Given the description of an element on the screen output the (x, y) to click on. 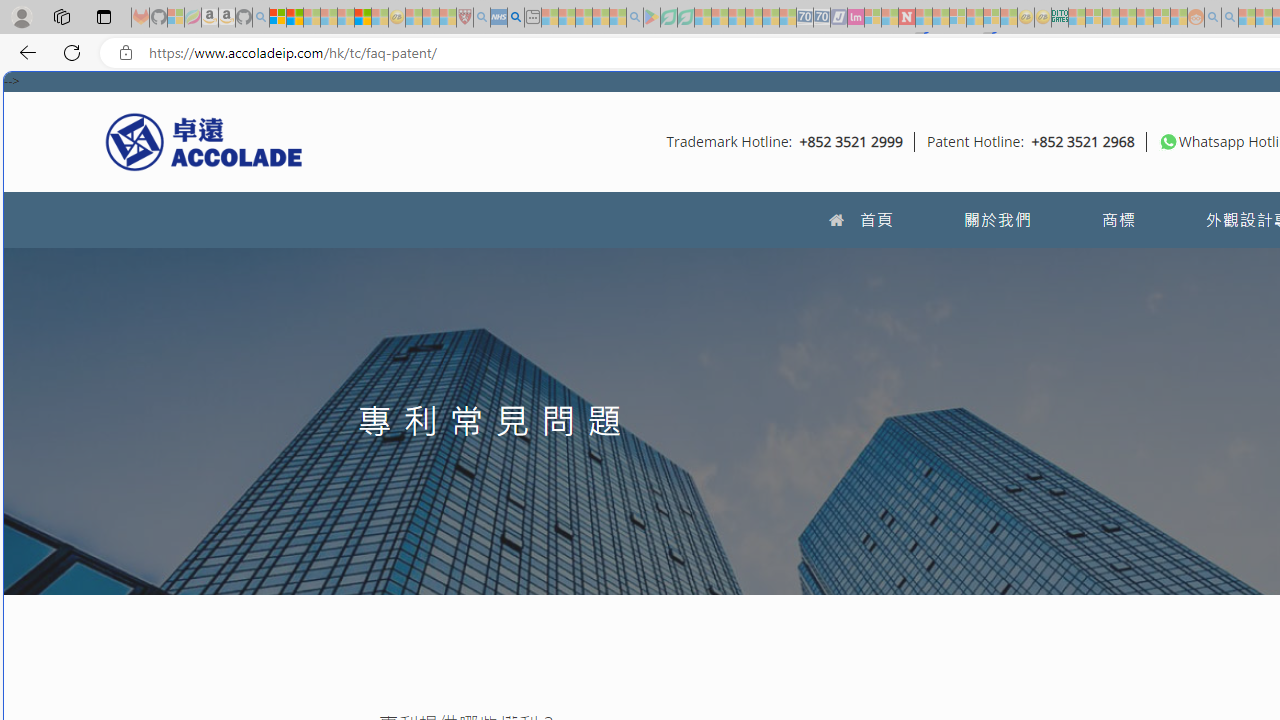
Pets - MSN - Sleeping (600, 17)
Accolade IP HK Logo (203, 141)
